Given the description of an element on the screen output the (x, y) to click on. 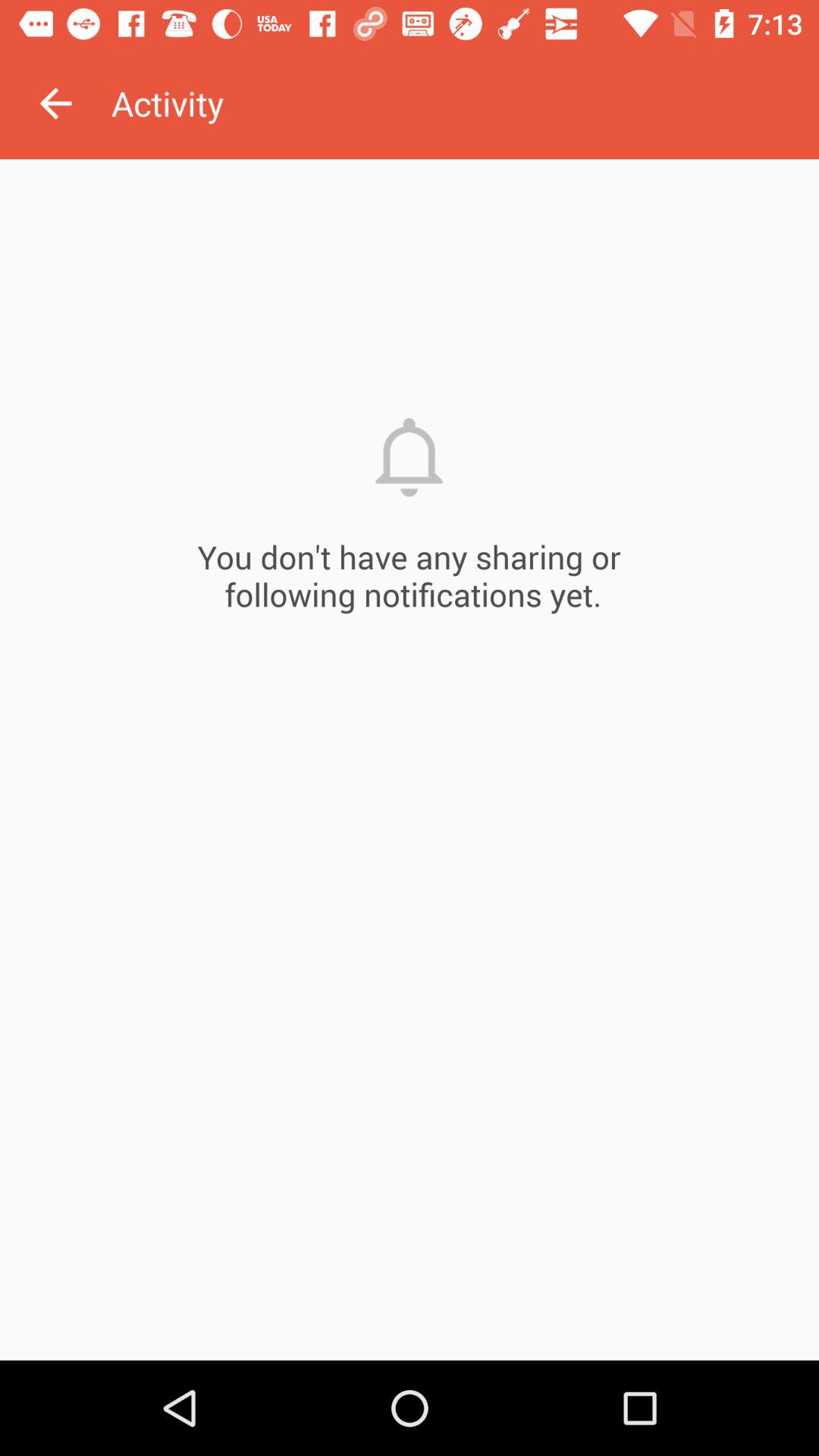
click the icon next to the activity (55, 103)
